Given the description of an element on the screen output the (x, y) to click on. 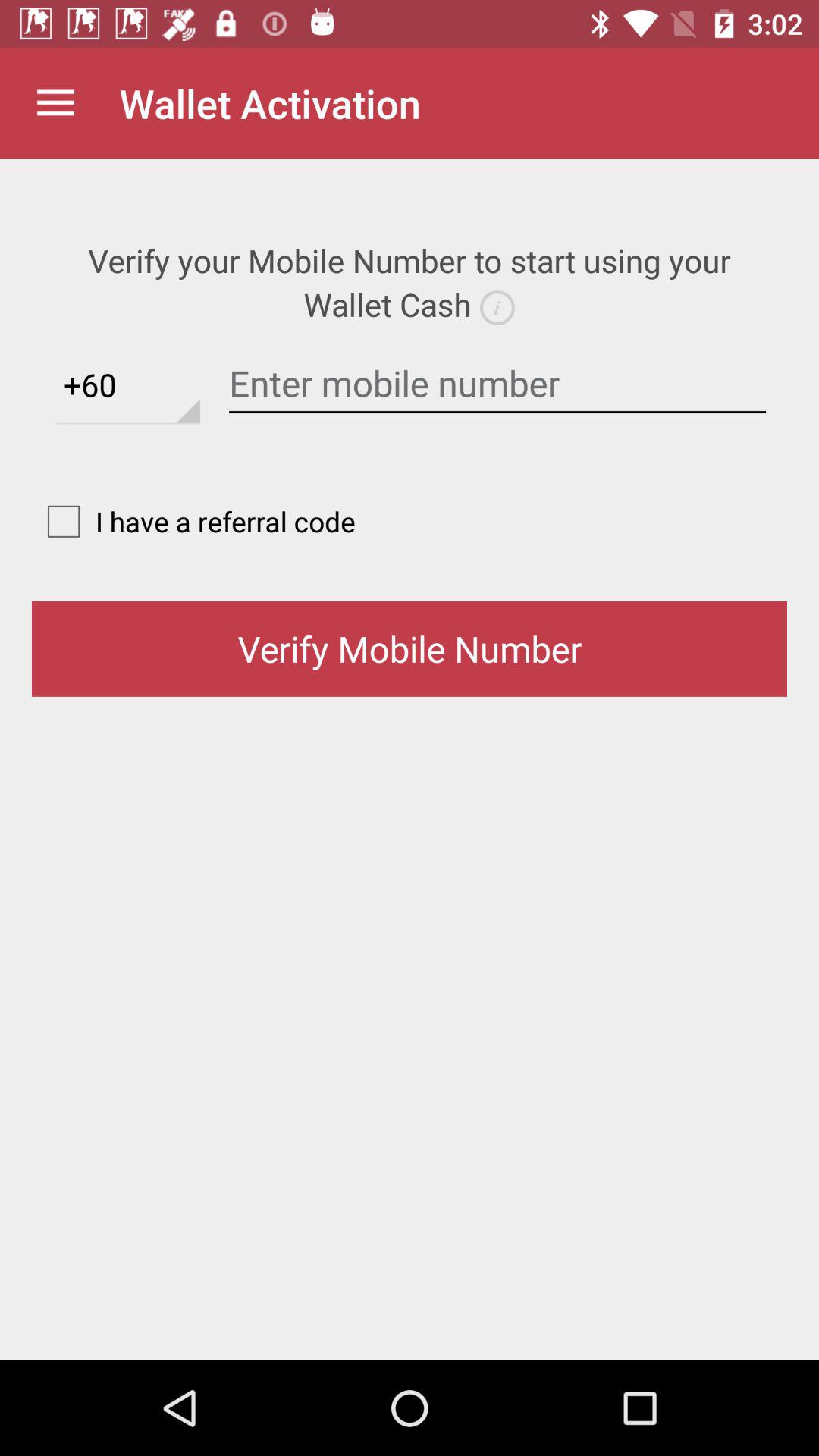
enter mobile number (497, 383)
